Given the description of an element on the screen output the (x, y) to click on. 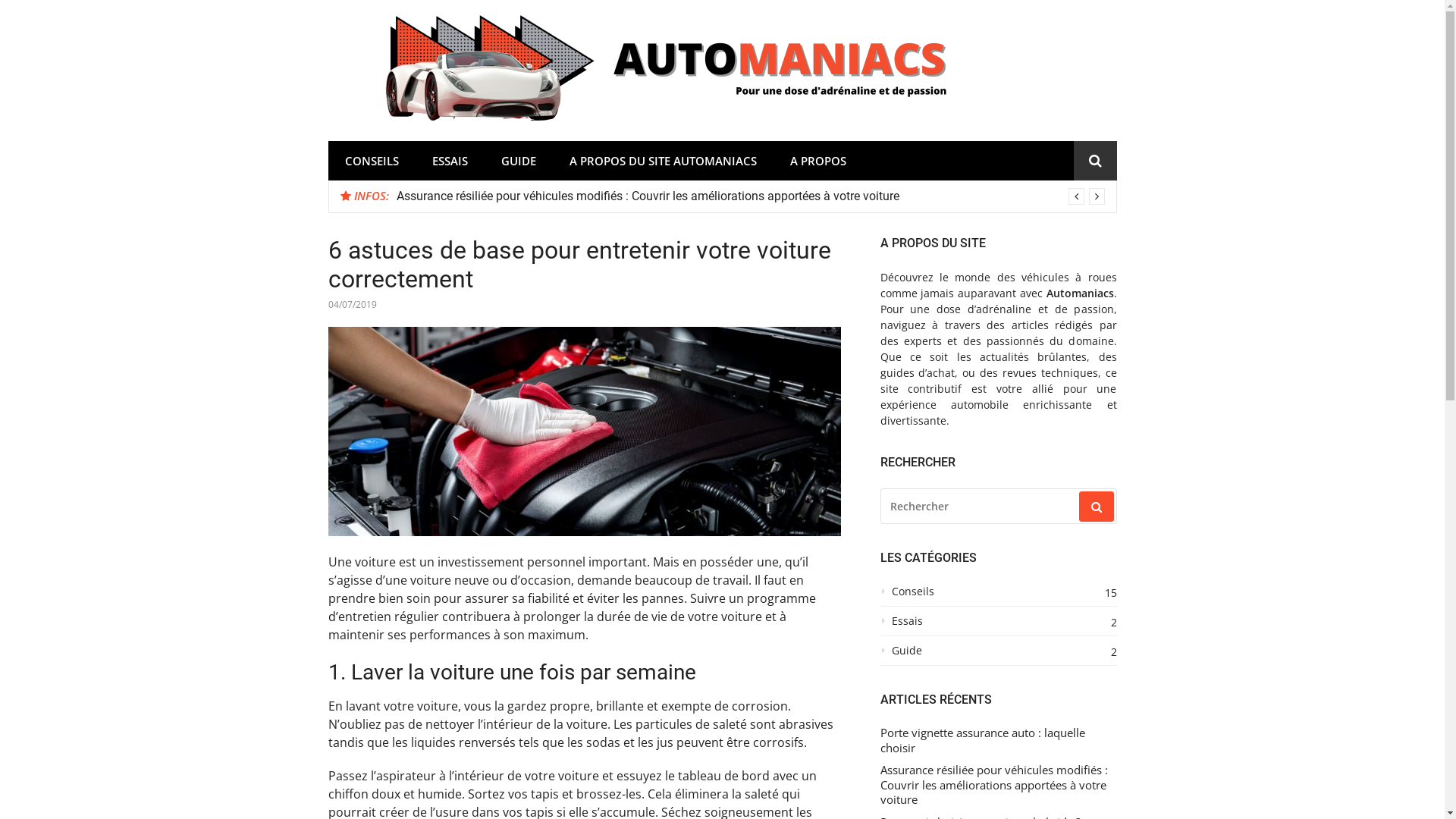
Conseils Element type: text (997, 595)
Essais Element type: text (997, 625)
A PROPOS Element type: text (817, 161)
GUIDE Element type: text (517, 161)
Guide Element type: text (997, 654)
ESSAIS Element type: text (449, 161)
Porte vignette assurance auto : laquelle choisir Element type: text (997, 740)
A PROPOS DU SITE AUTOMANIACS Element type: text (662, 161)
CONSEILS Element type: text (370, 161)
